Given the description of an element on the screen output the (x, y) to click on. 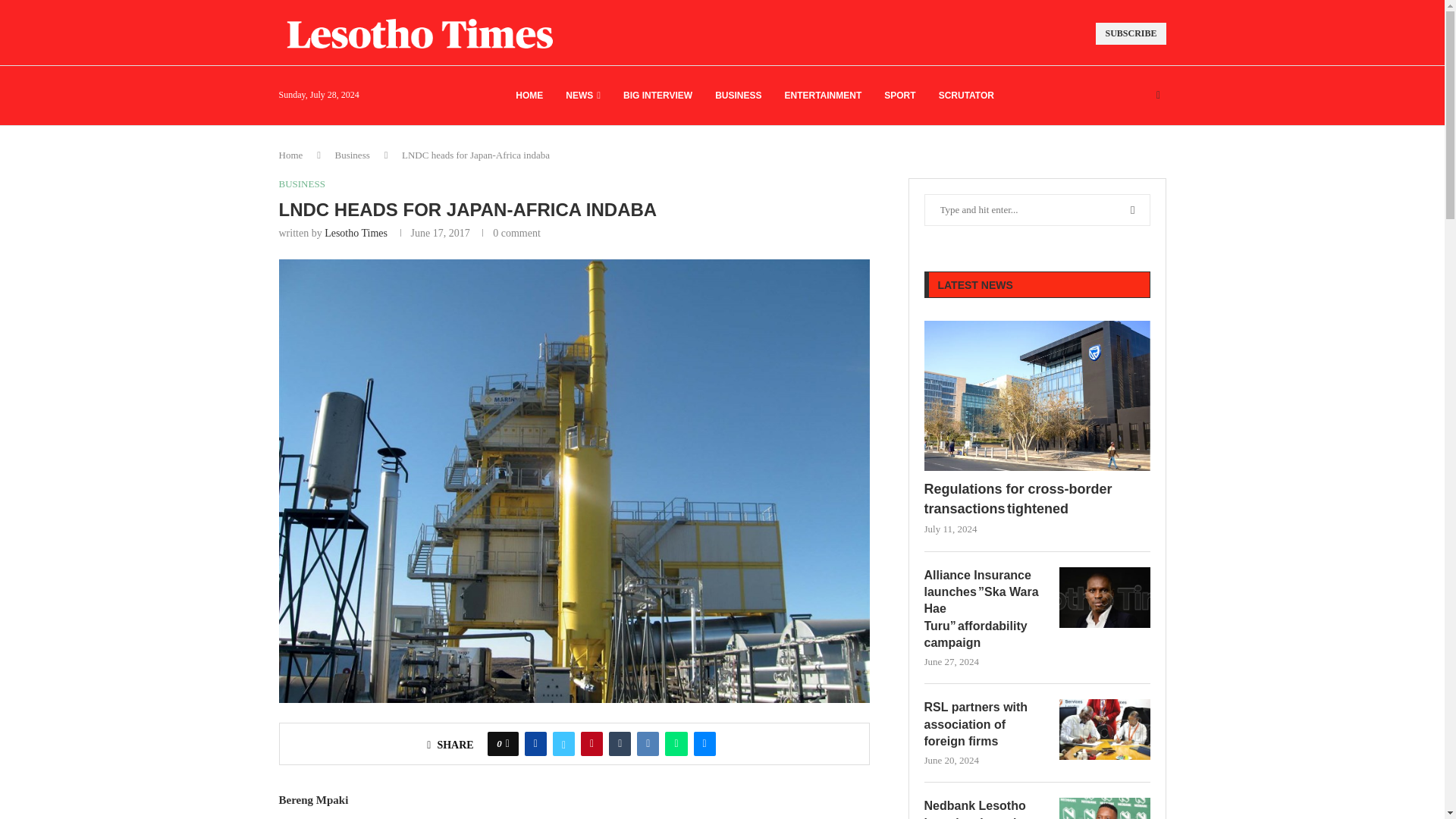
BUSINESS (737, 95)
SCRUTATOR (966, 95)
ENTERTAINMENT (822, 95)
SUBSCRIBE (1131, 33)
BIG INTERVIEW (658, 95)
